Given the description of an element on the screen output the (x, y) to click on. 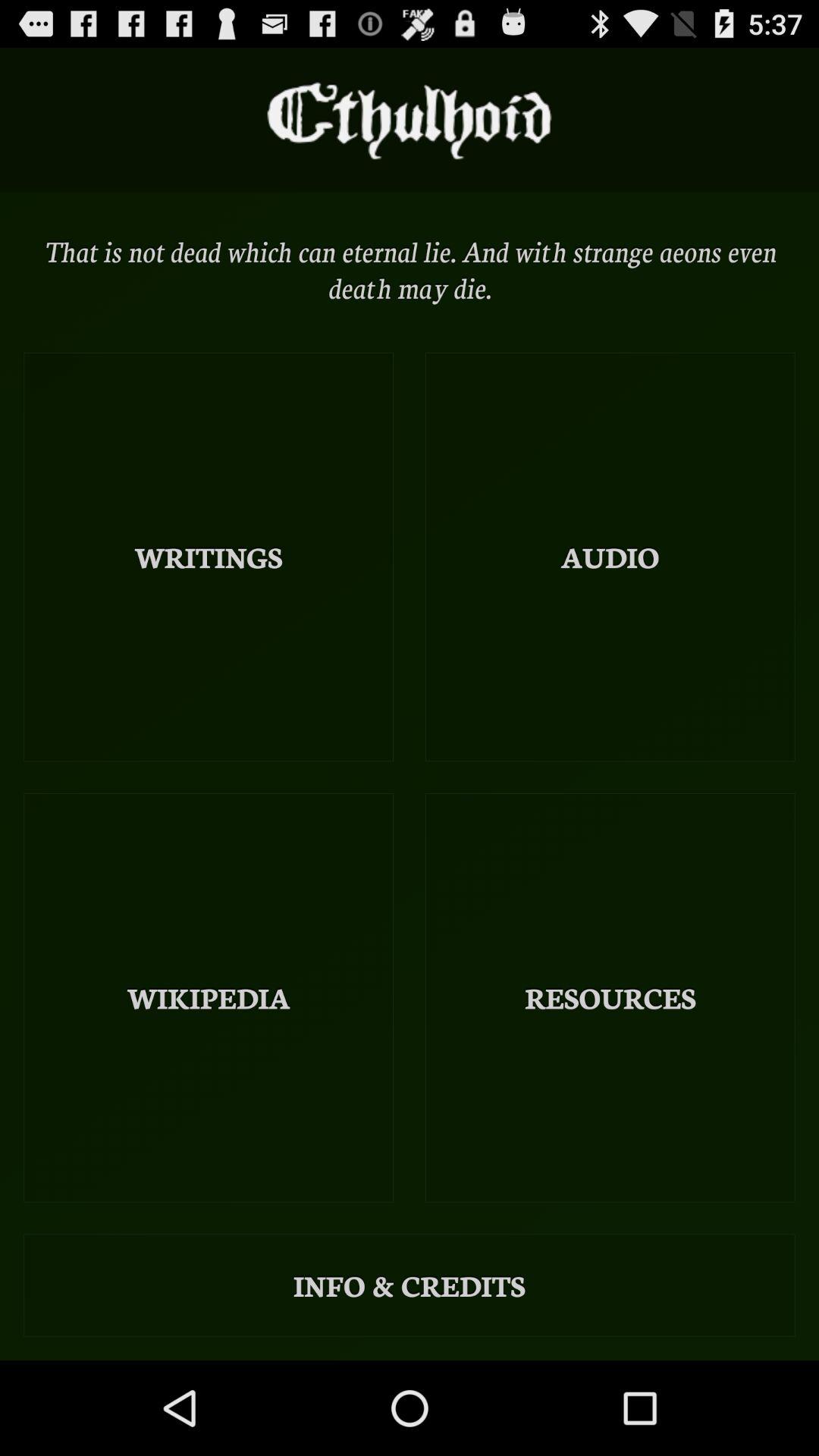
launch wikipedia item (208, 997)
